Given the description of an element on the screen output the (x, y) to click on. 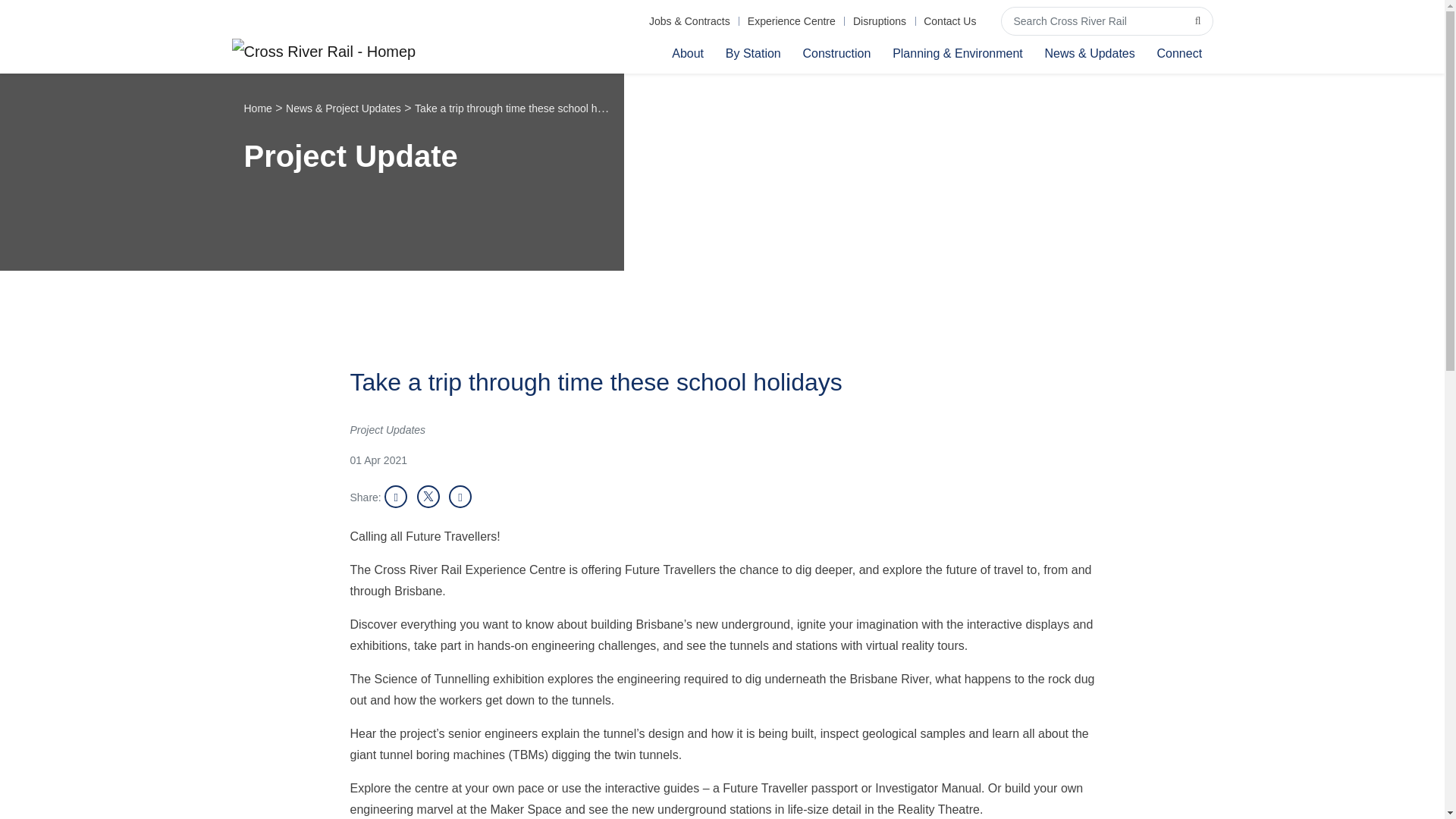
Contact Us (950, 20)
Experience Centre (791, 20)
By Station (753, 52)
Contact Us (950, 20)
About (687, 52)
Experience Centre (791, 20)
Disruptions (879, 20)
Disruptions (879, 20)
About (687, 52)
Cross River Rail (323, 52)
